Given the description of an element on the screen output the (x, y) to click on. 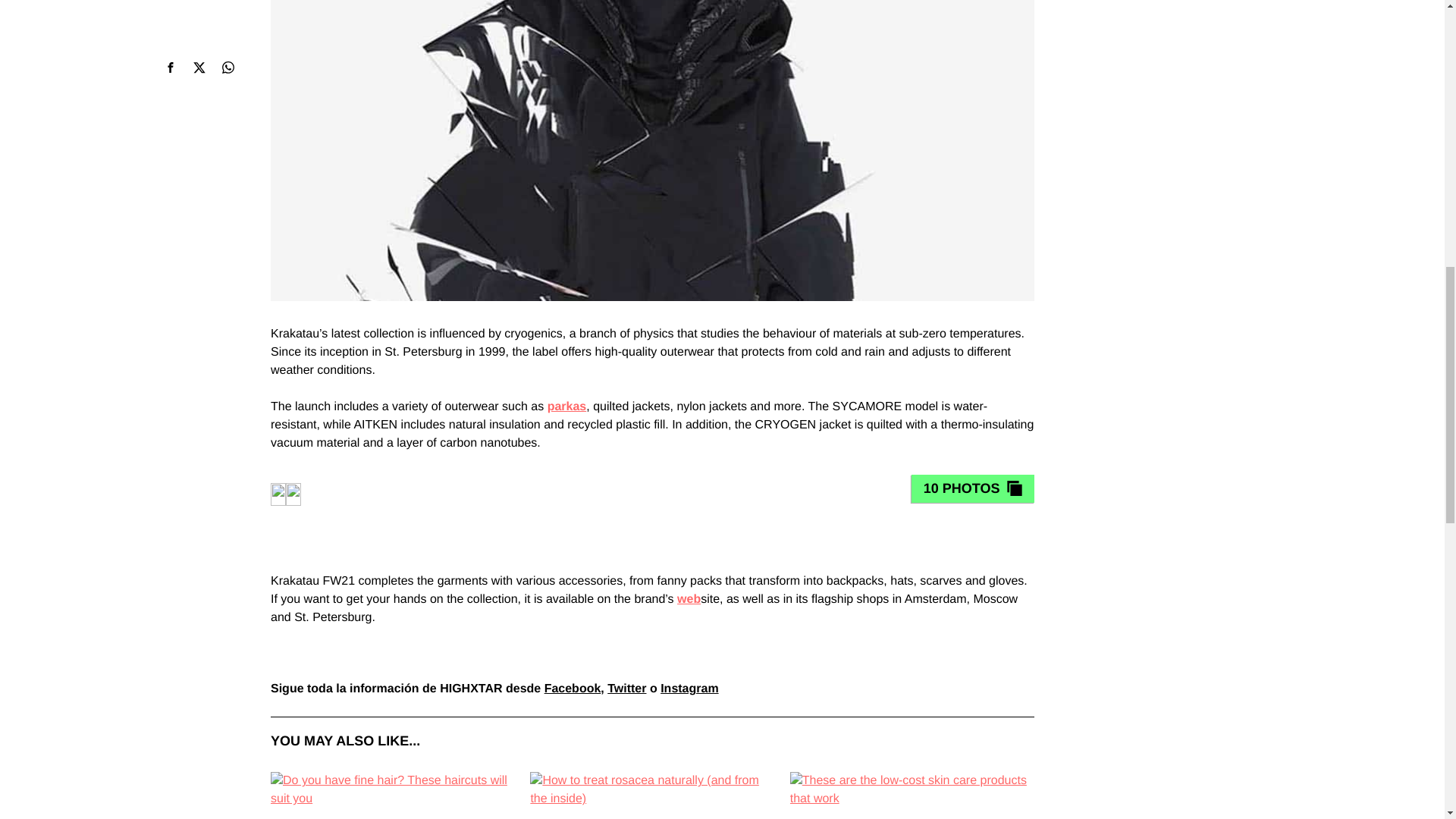
Highxtar Instagram (689, 688)
Highxtar Facebook (572, 688)
Highxtar Twitter (626, 688)
